Given the description of an element on the screen output the (x, y) to click on. 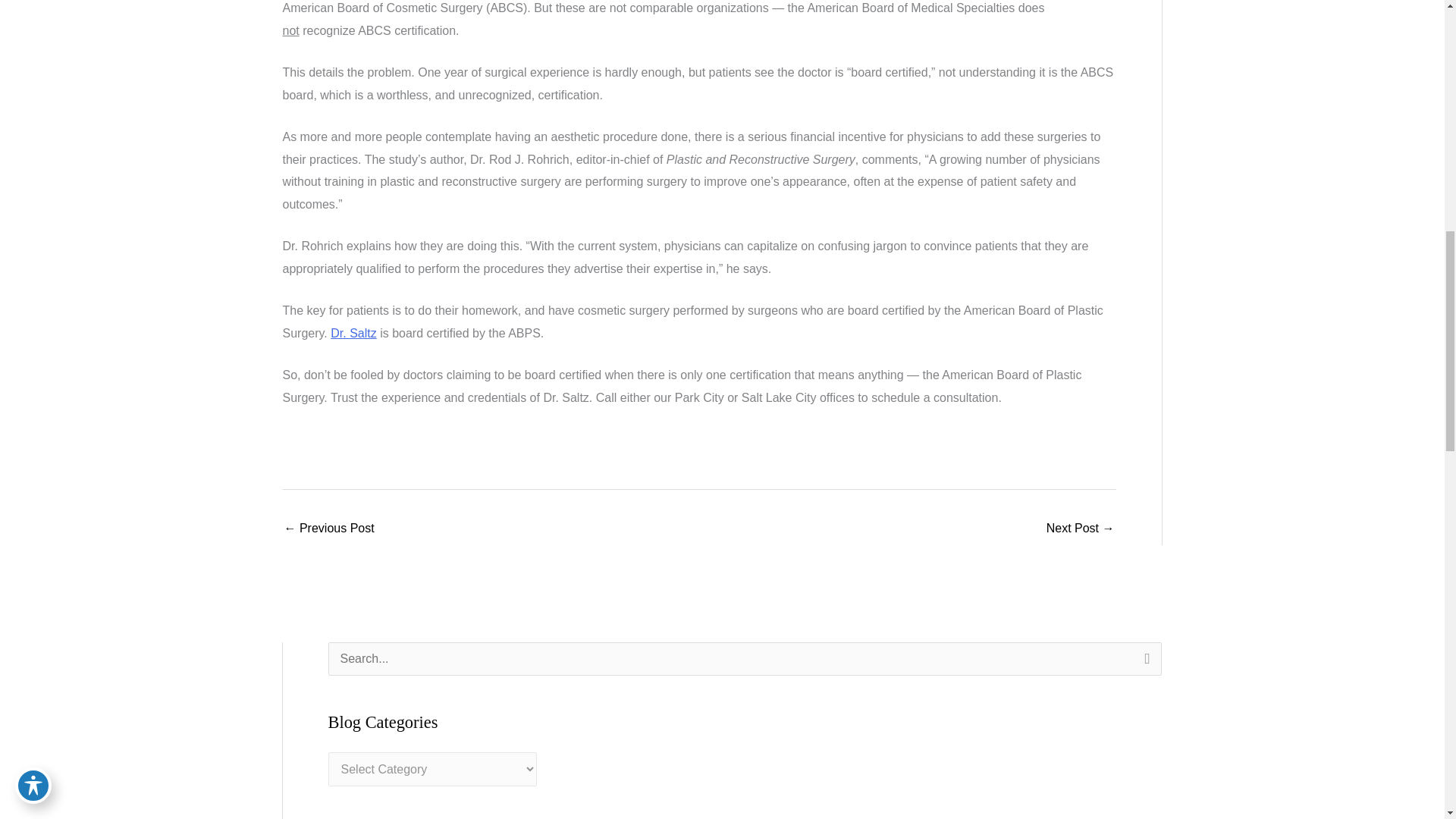
Our Chemical Peels (328, 529)
